Given the description of an element on the screen output the (x, y) to click on. 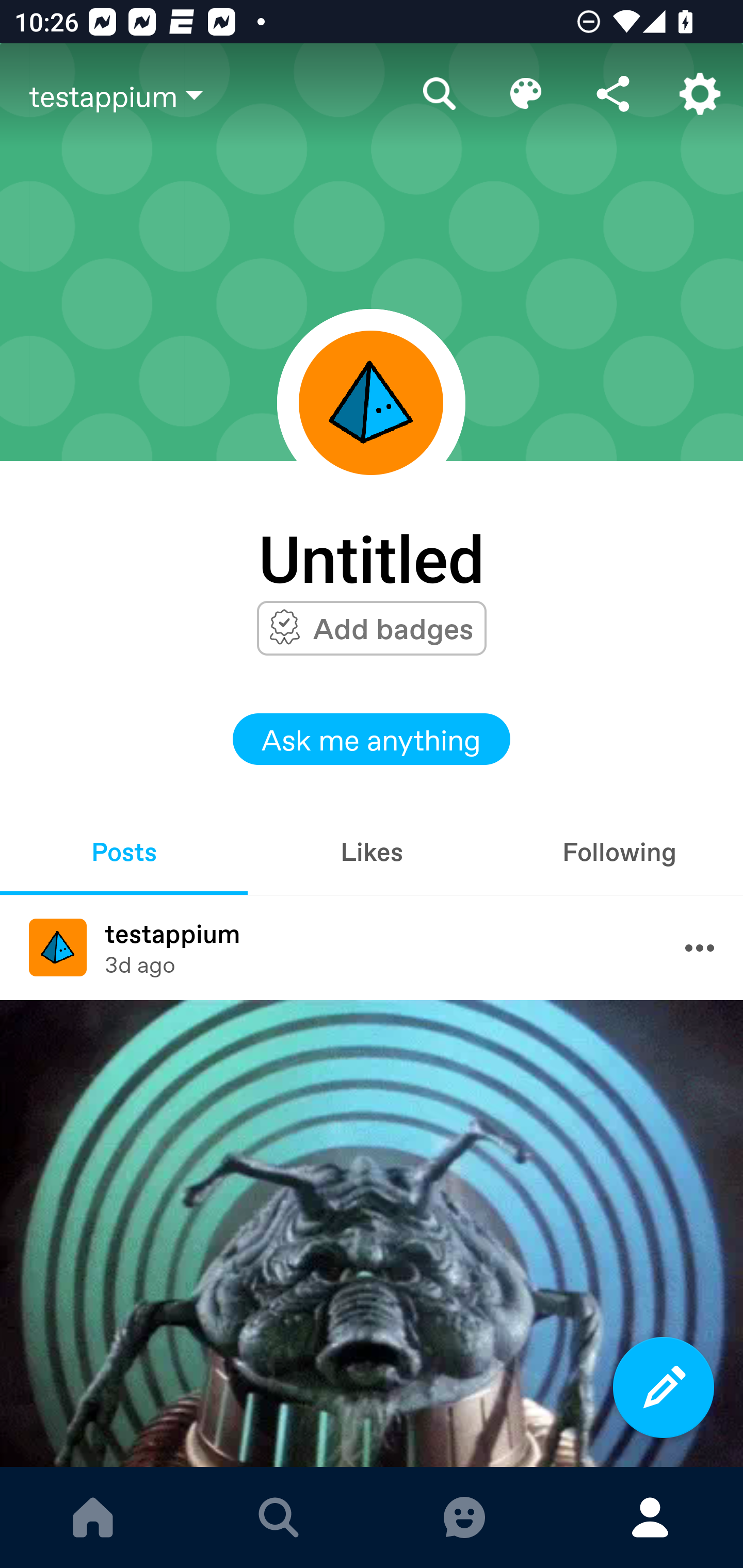
testappium (212, 95)
Search blog (439, 93)
Edit (525, 93)
Share (612, 93)
Account (699, 93)
Avatar frame (371, 402)
Add badges (393, 627)
Ask me anything (371, 739)
Likes (371, 851)
Following (619, 851)
Avatar frame testappium   testappium 3d ago (371, 947)
Compose a new post (663, 1387)
DASHBOARD (92, 1517)
EXPLORE (278, 1517)
MESSAGES (464, 1517)
ACCOUNT (650, 1517)
